Given the description of an element on the screen output the (x, y) to click on. 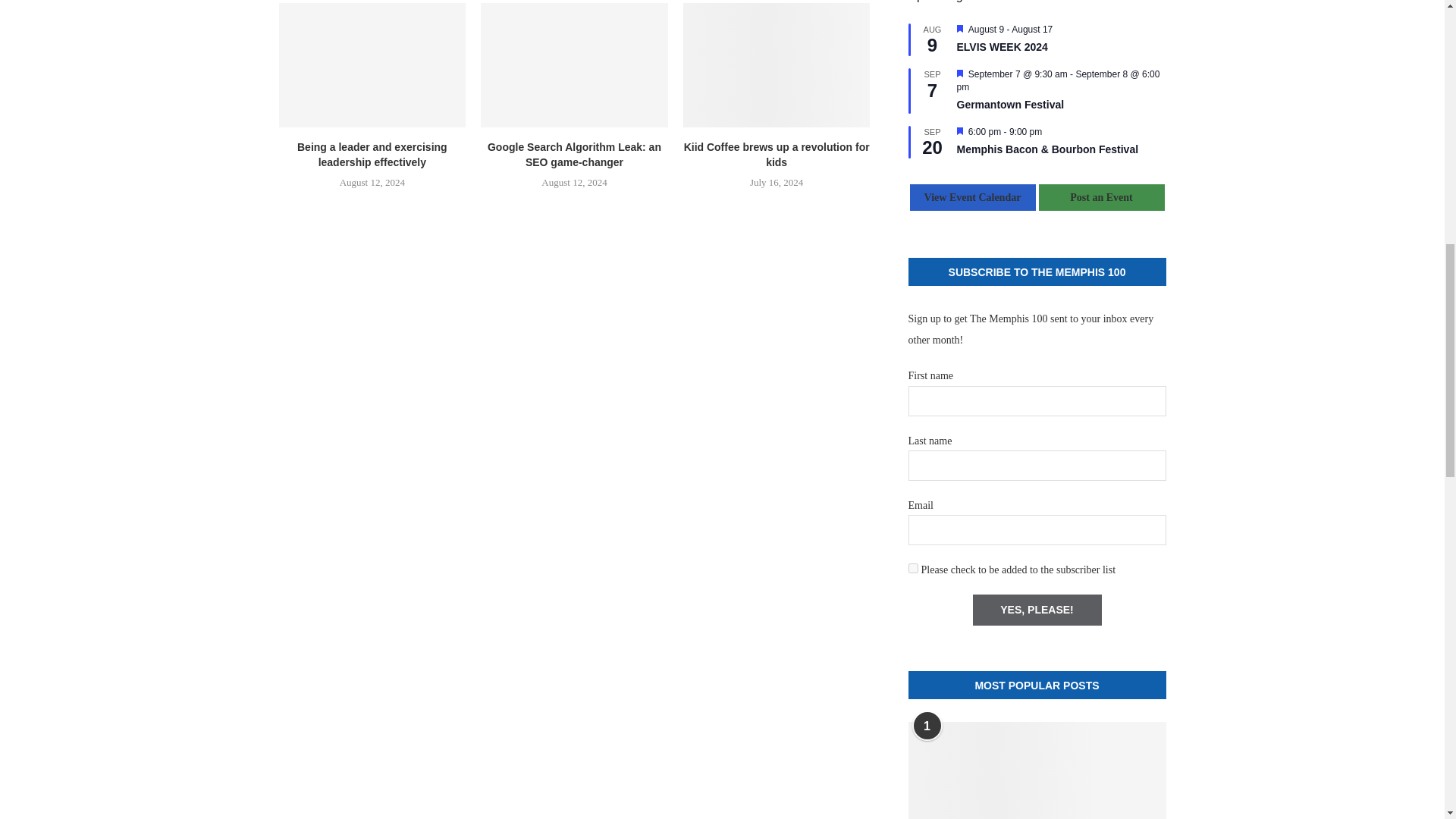
Being a leader and exercising leadership effectively (372, 65)
Google Search Algorithm Leak: an SEO game-changer (574, 65)
1 (913, 568)
Kiid Coffee brews up a revolution for kids (776, 65)
YES, PLEASE! (1036, 609)
